Given the description of an element on the screen output the (x, y) to click on. 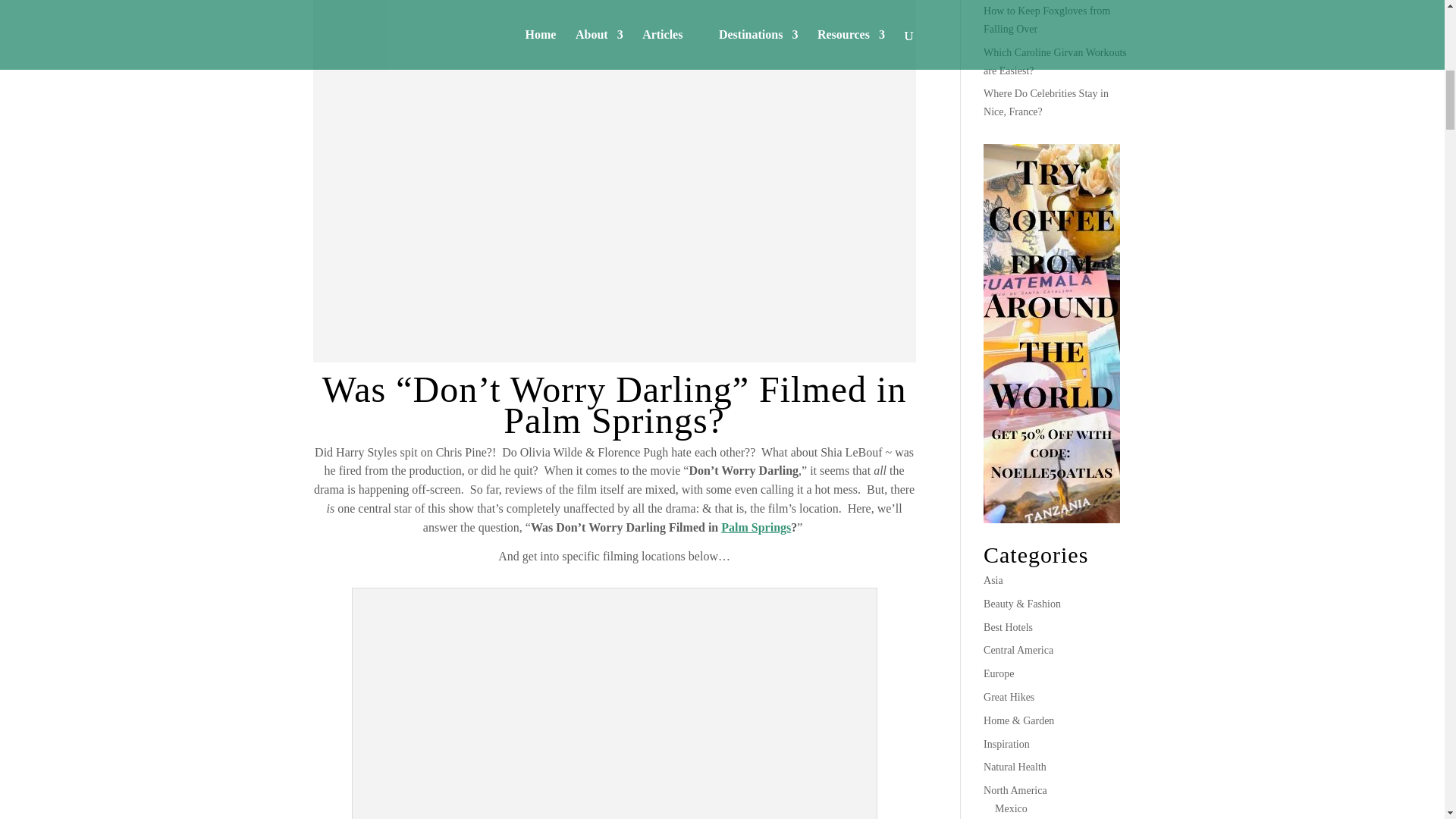
Palm Springs (755, 526)
